Given the description of an element on the screen output the (x, y) to click on. 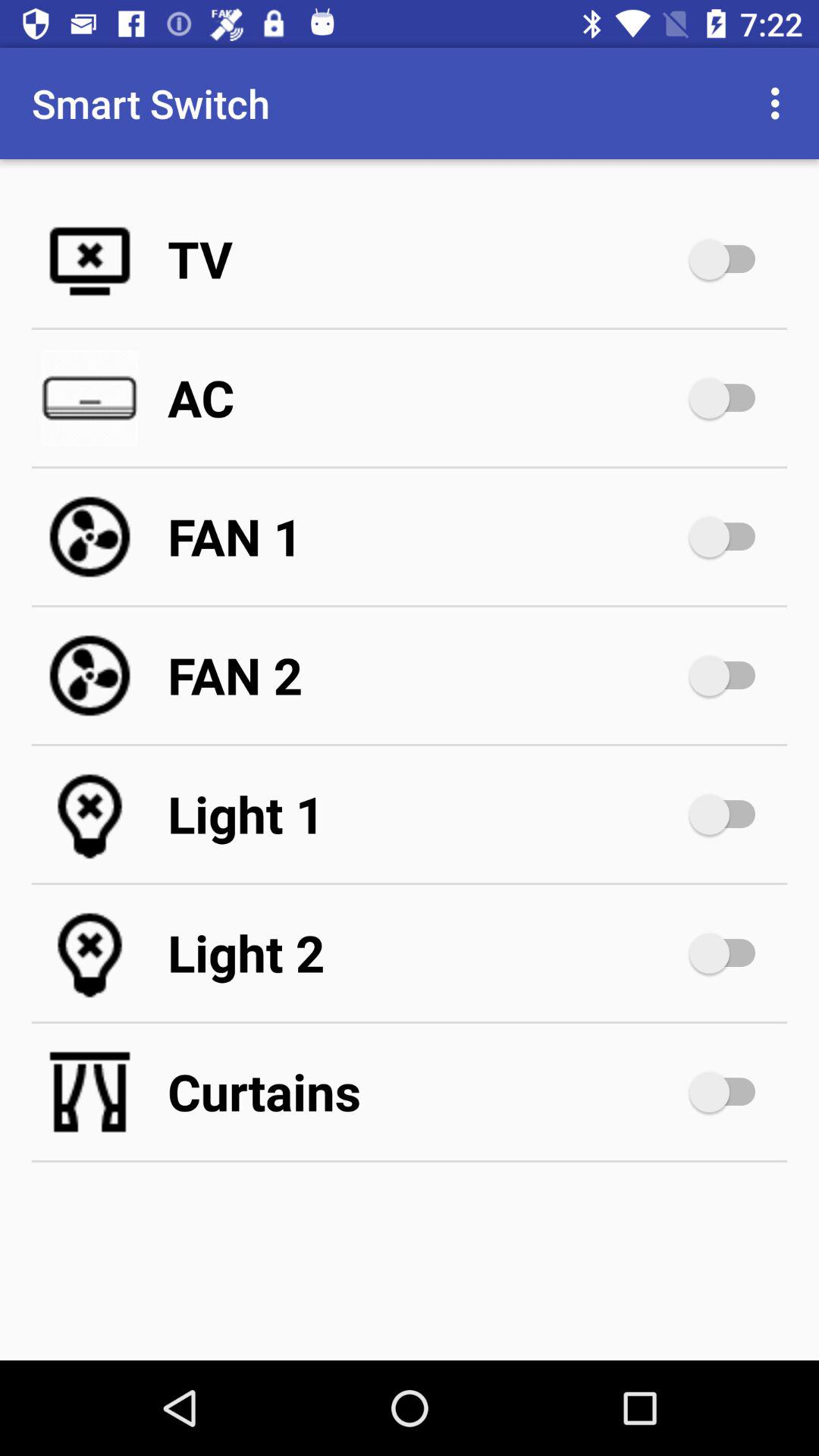
click the app below smart switch (424, 259)
